Given the description of an element on the screen output the (x, y) to click on. 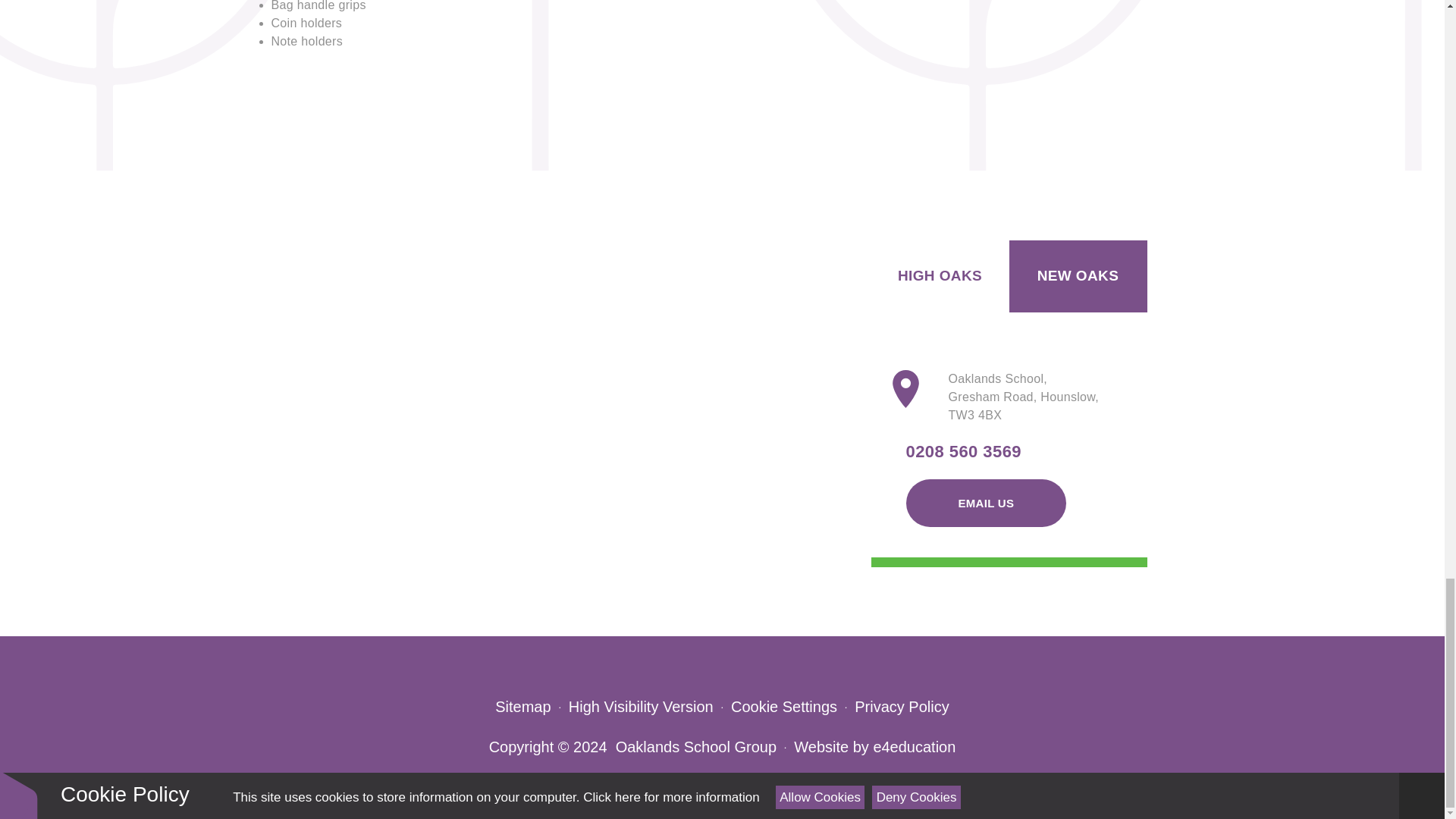
Cookie Settings (783, 706)
